Given the description of an element on the screen output the (x, y) to click on. 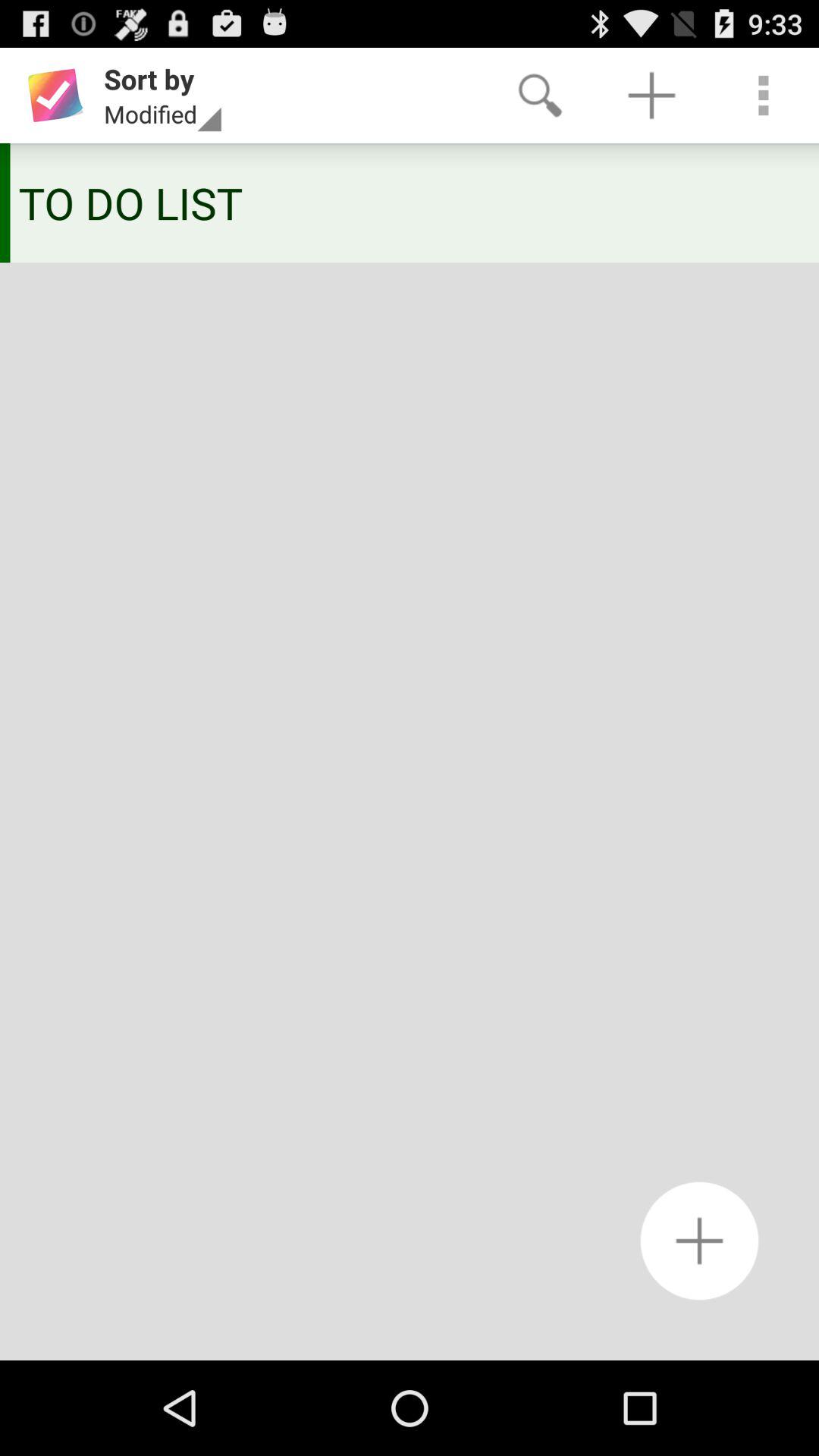
flip to the to do list icon (404, 202)
